Given the description of an element on the screen output the (x, y) to click on. 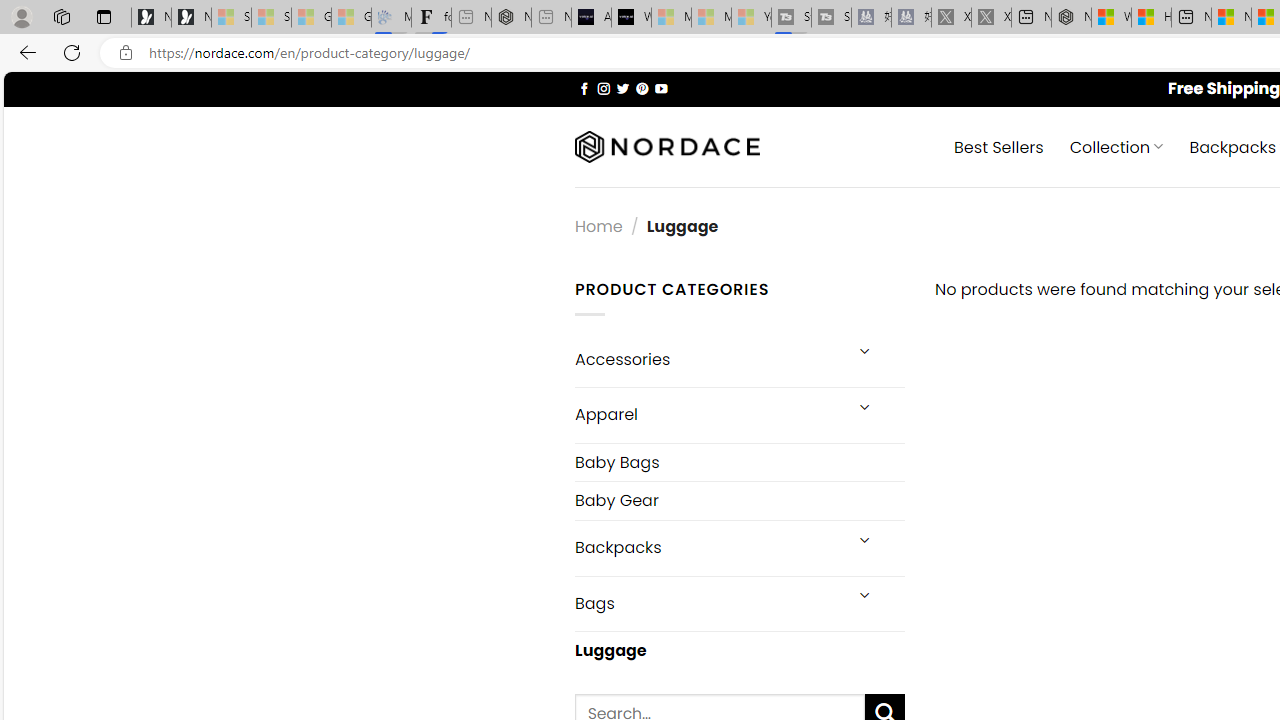
Microsoft Start - Sleeping (711, 17)
Follow on Facebook (584, 88)
 Best Sellers (998, 146)
Apparel (706, 415)
Huge shark washes ashore at New York City beach | Watch (1151, 17)
Baby Bags (739, 461)
Backpacks (706, 548)
Bags (706, 603)
Newsletter Sign Up (191, 17)
